Given the description of an element on the screen output the (x, y) to click on. 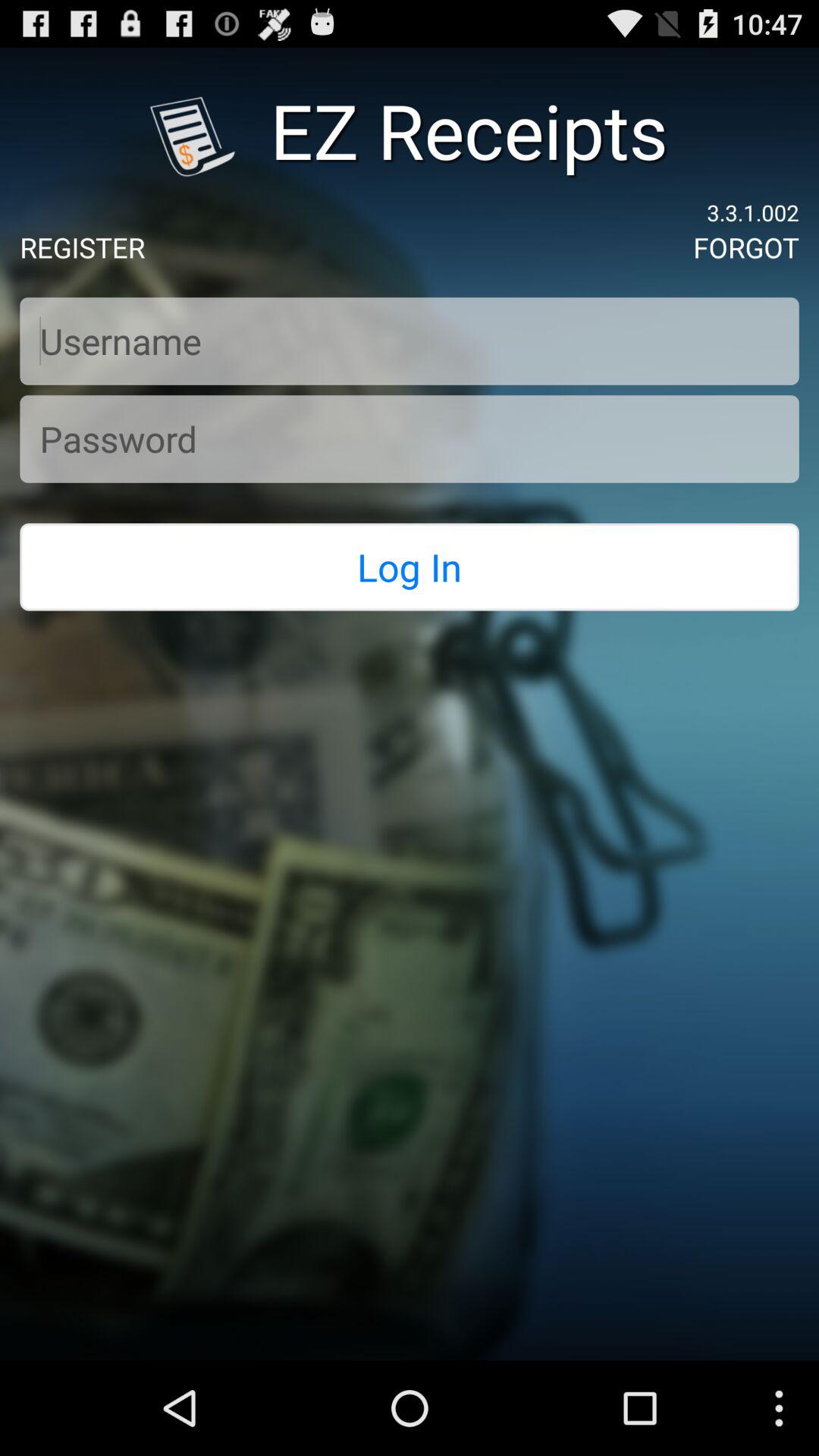
tap item below 3 3 1 icon (746, 247)
